Given the description of an element on the screen output the (x, y) to click on. 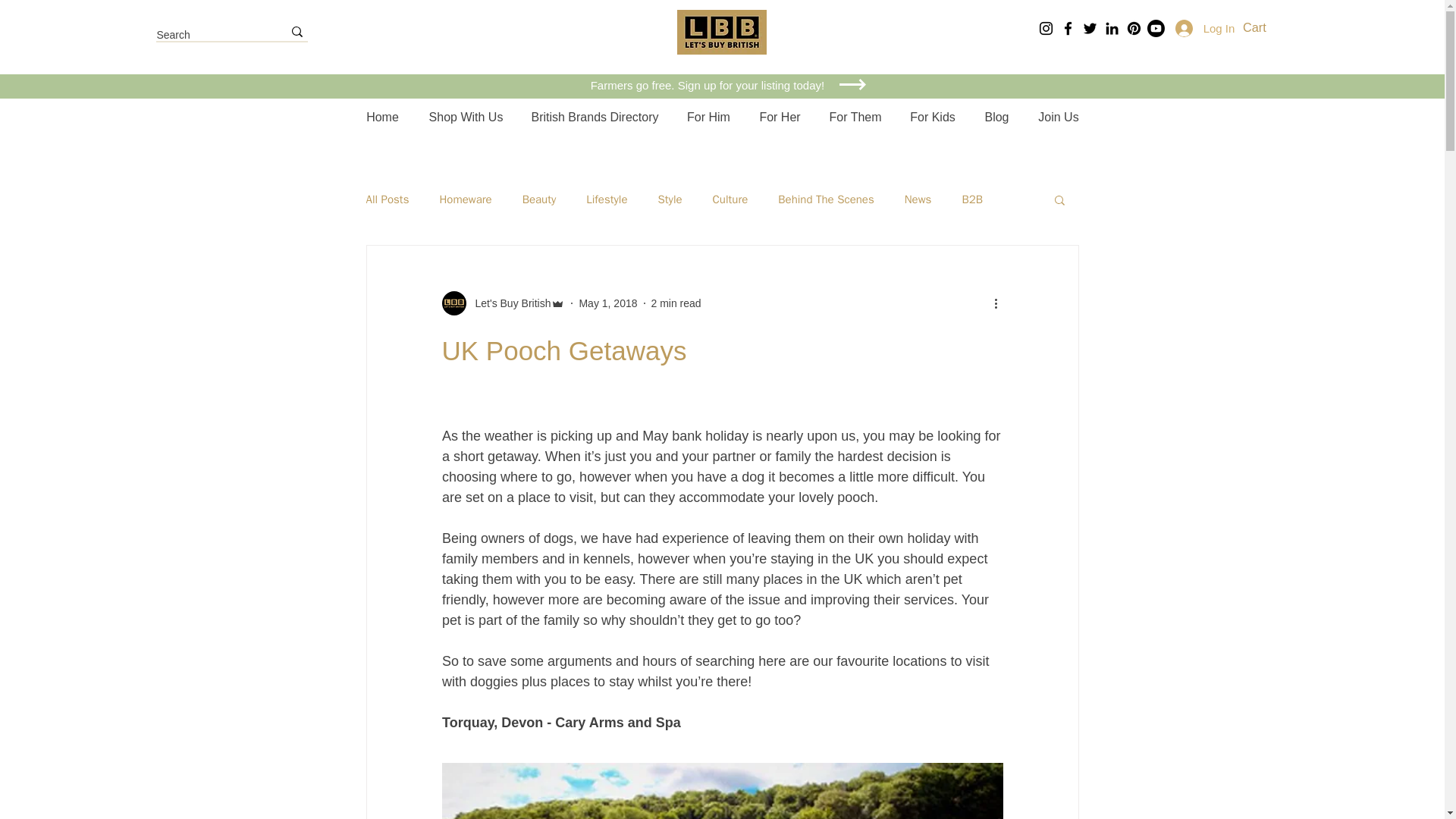
For Them (854, 117)
British Brands Directory (593, 117)
Join Us (1058, 117)
Home (381, 117)
Log In (1202, 28)
For Him (707, 117)
2 min read (675, 303)
Cart (1265, 27)
Blog (996, 117)
May 1, 2018 (607, 303)
Let's Buy British (507, 303)
For Her (778, 117)
Shop With Us (464, 117)
For Kids (932, 117)
Farmers go free. Sign up for your listing today!  (709, 84)
